Given the description of an element on the screen output the (x, y) to click on. 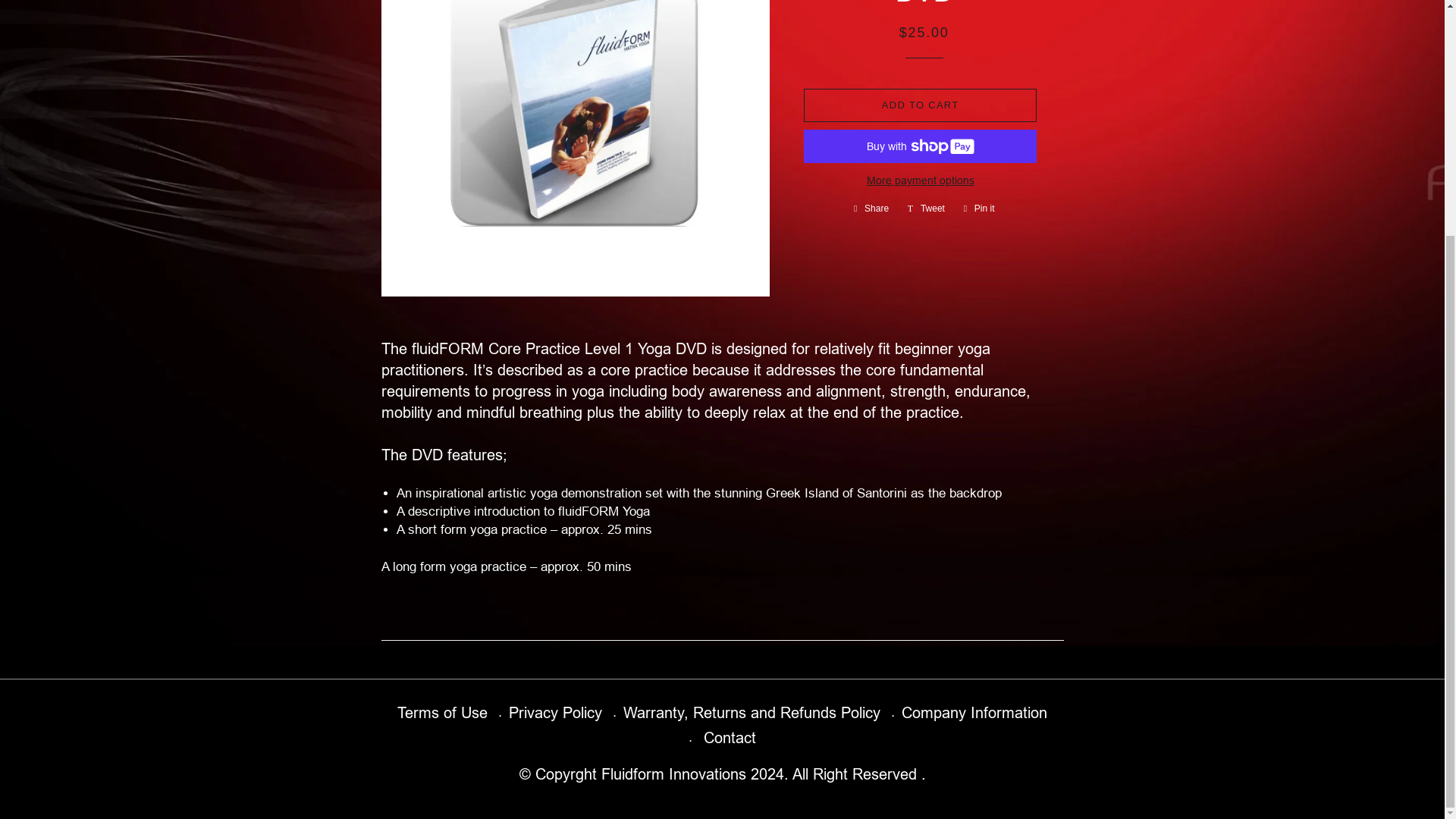
Privacy Policy (925, 208)
Contact (555, 712)
Share on Facebook (726, 737)
Pin on Pinterest (870, 208)
More payment options (979, 208)
Company Information (919, 181)
Terms of Use (973, 712)
ADD TO CART (979, 208)
